Given the description of an element on the screen output the (x, y) to click on. 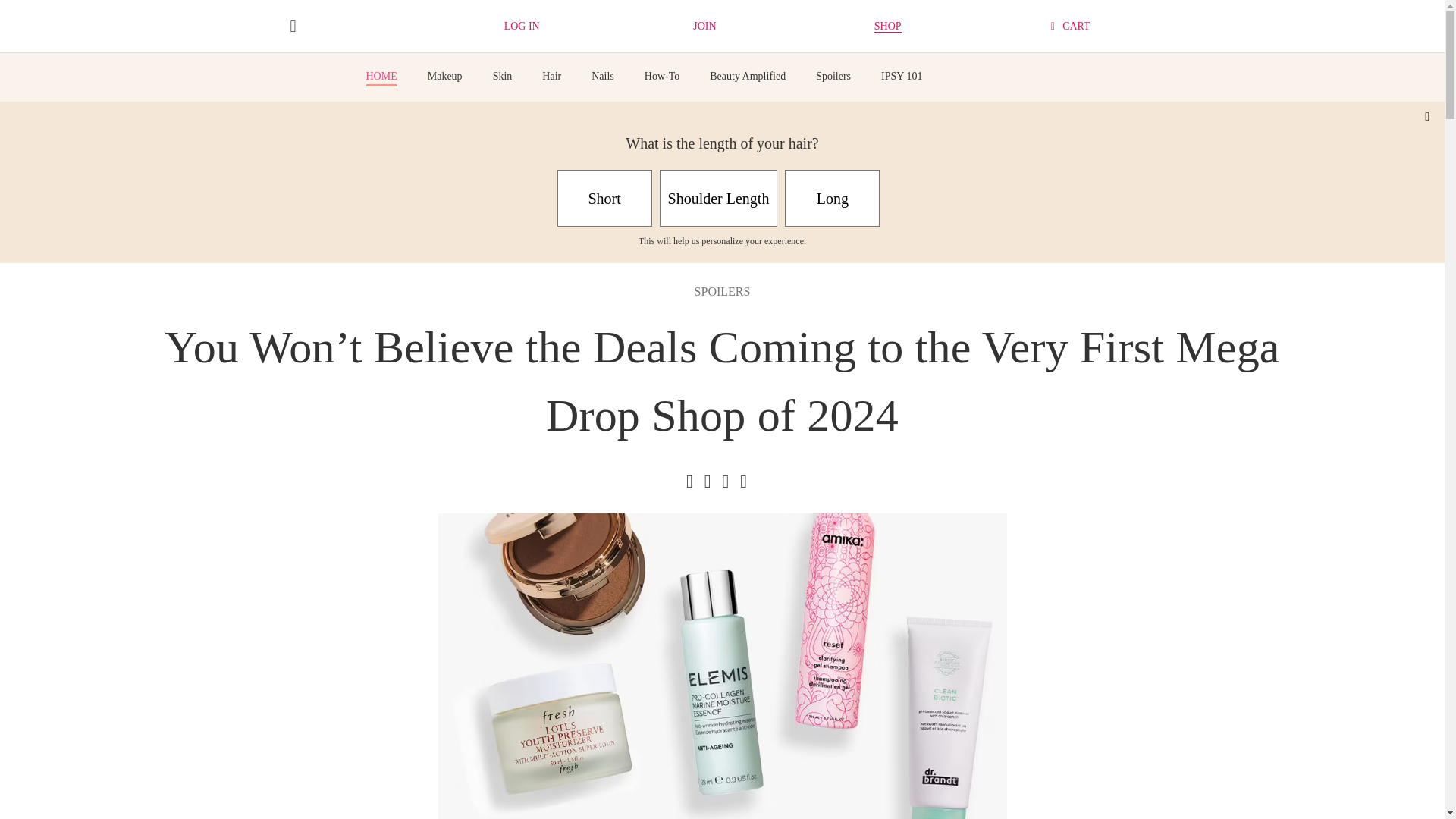
SHOP (888, 26)
IPSY 101 (900, 75)
CART (1070, 25)
How-To (662, 75)
LOG IN (521, 25)
Nails (602, 75)
SPOILERS (722, 291)
Spoilers (832, 75)
Hair (550, 75)
Makeup (445, 75)
Long (831, 197)
JOIN (704, 25)
Beauty Amplified (748, 75)
Short (604, 197)
Skin (502, 75)
